Given the description of an element on the screen output the (x, y) to click on. 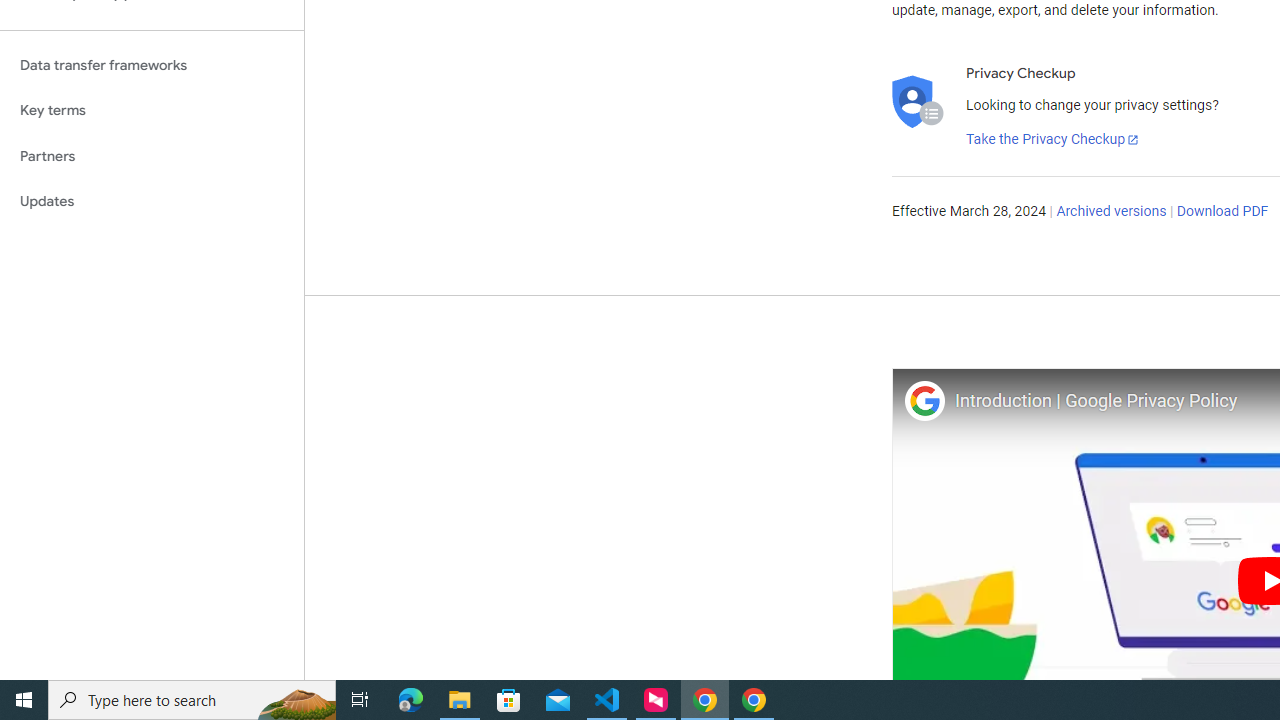
Photo image of Google (924, 400)
Take the Privacy Checkup (1053, 140)
